Given the description of an element on the screen output the (x, y) to click on. 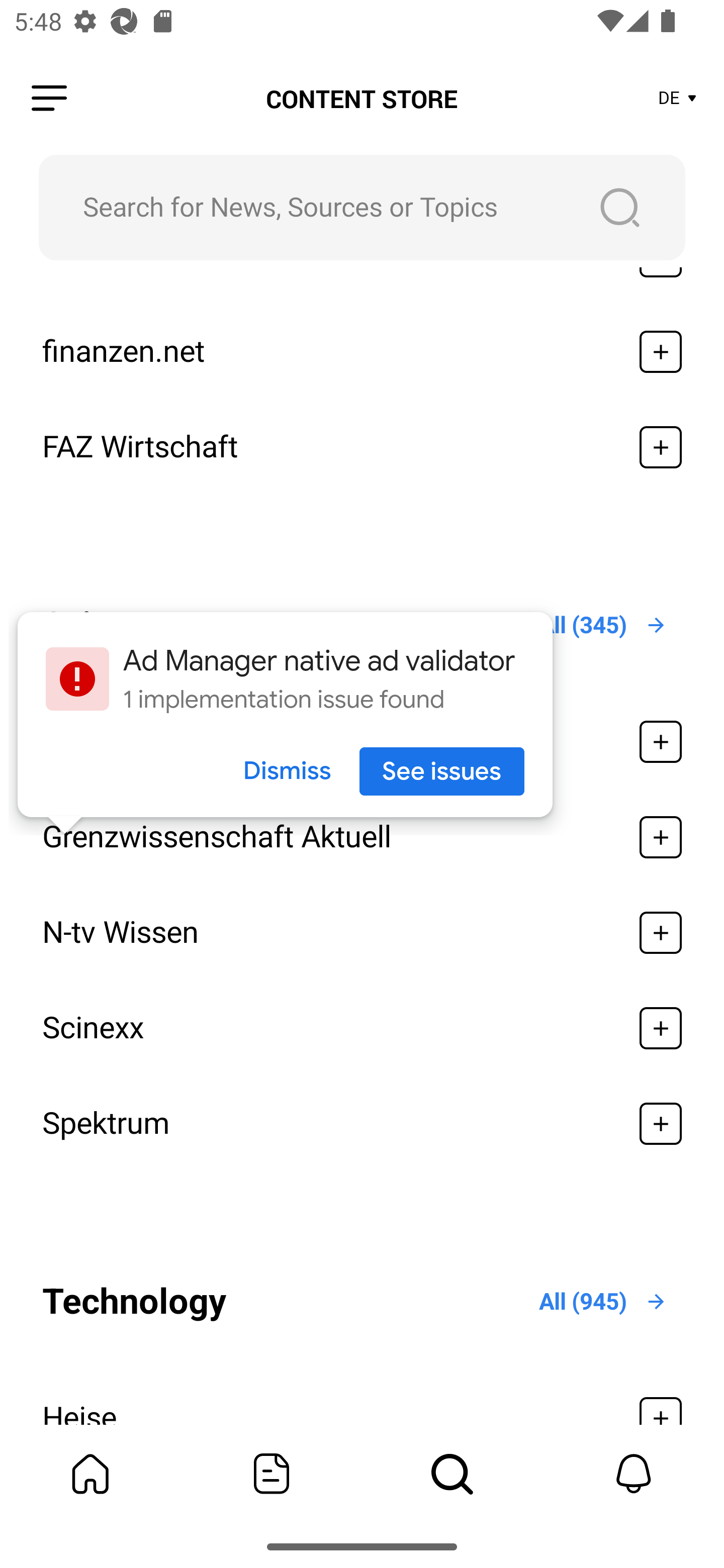
DE Store Area (677, 98)
Leading Icon (49, 98)
Search for News, Sources or Topics Search Button (361, 207)
finanzen.net Add To My Bundle (361, 350)
Add To My Bundle (660, 350)
FAZ Wirtschaft Add To My Bundle (361, 446)
Add To My Bundle (660, 446)
All (345) Open All Icon (603, 625)
Add To My Bundle (660, 741)
Grenzwissenschaft Aktuell Add To My Bundle (361, 836)
Add To My Bundle (660, 836)
N-tv Wissen Add To My Bundle (361, 932)
Add To My Bundle (660, 932)
Scinexx Add To My Bundle (361, 1028)
Add To My Bundle (660, 1028)
Spektrum Add To My Bundle (361, 1123)
Add To My Bundle (660, 1123)
All (945) Open All Icon (603, 1301)
My Bundle (90, 1473)
Featured (271, 1473)
Notifications (633, 1473)
